Given the description of an element on the screen output the (x, y) to click on. 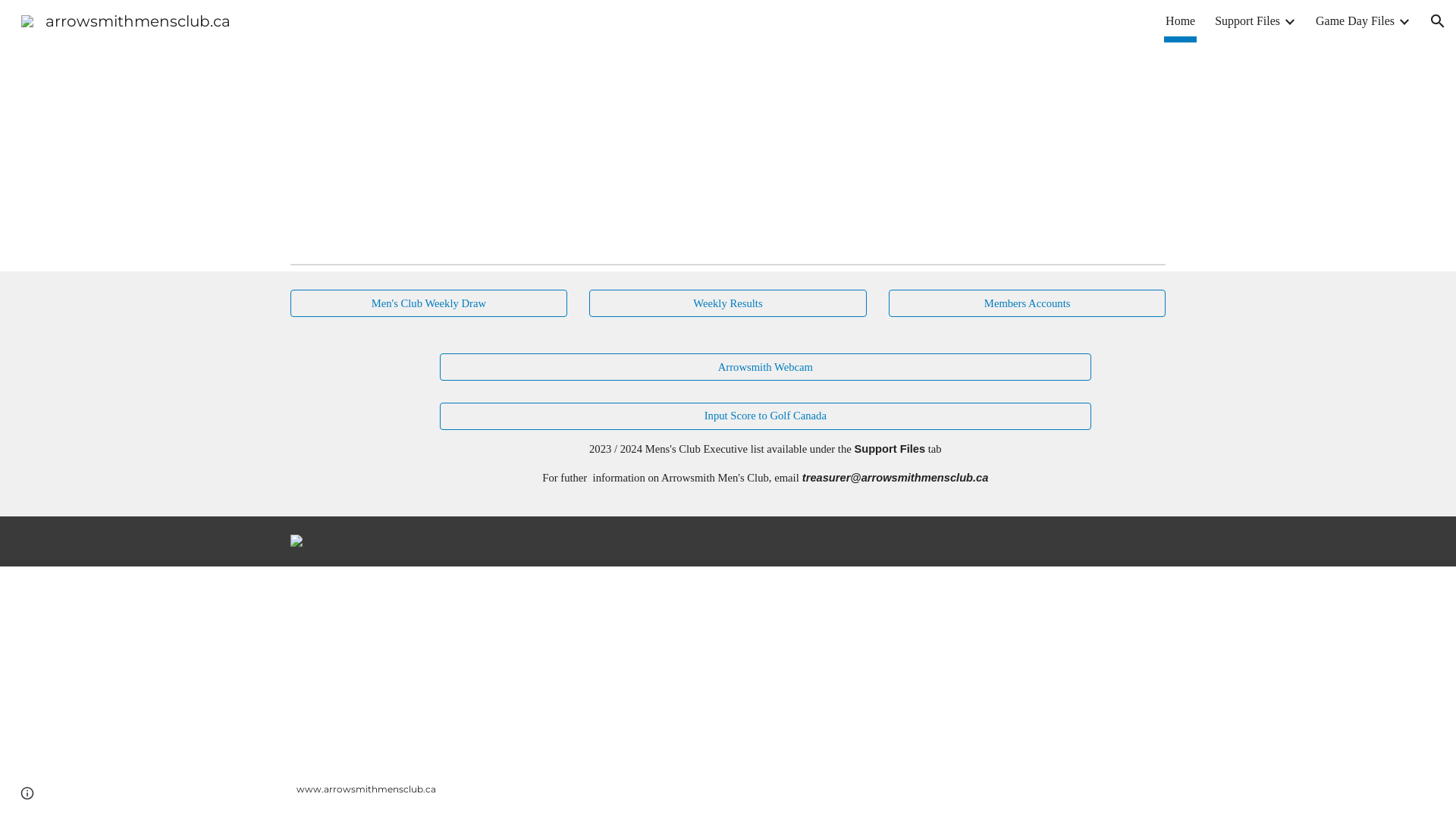
Members Accounts Element type: text (1026, 302)
Home Element type: text (1180, 20)
Expand/Collapse Element type: hover (1288, 20)
Expand/Collapse Element type: hover (1403, 20)
Support Files Element type: text (1247, 20)
Game Day Files Element type: text (1354, 20)
arrowsmithmensclub.ca Element type: text (125, 19)
Weekly Results Element type: text (727, 302)
Men's Club Weekly Draw Element type: text (428, 302)
Input Score to Golf Canada Element type: text (764, 415)
Arrowsmith Webcam Element type: text (764, 366)
